Given the description of an element on the screen output the (x, y) to click on. 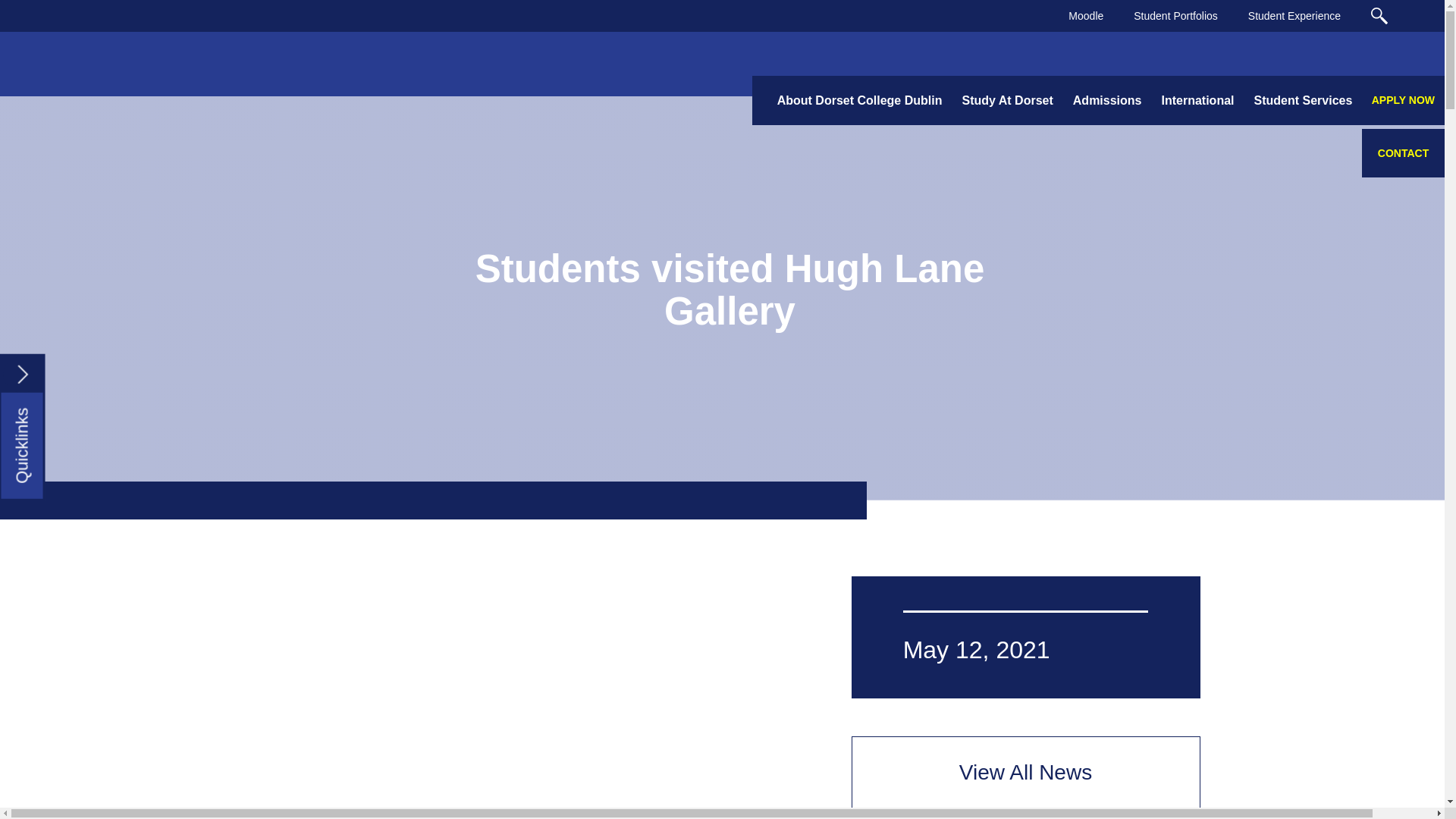
Admissions (1106, 101)
Student Experience (1294, 15)
Student Services (1302, 101)
Moodle (1085, 15)
About Dorset College Dublin (859, 101)
International (1197, 101)
Student Portfolios (1175, 15)
Study At Dorset (1007, 101)
